Given the description of an element on the screen output the (x, y) to click on. 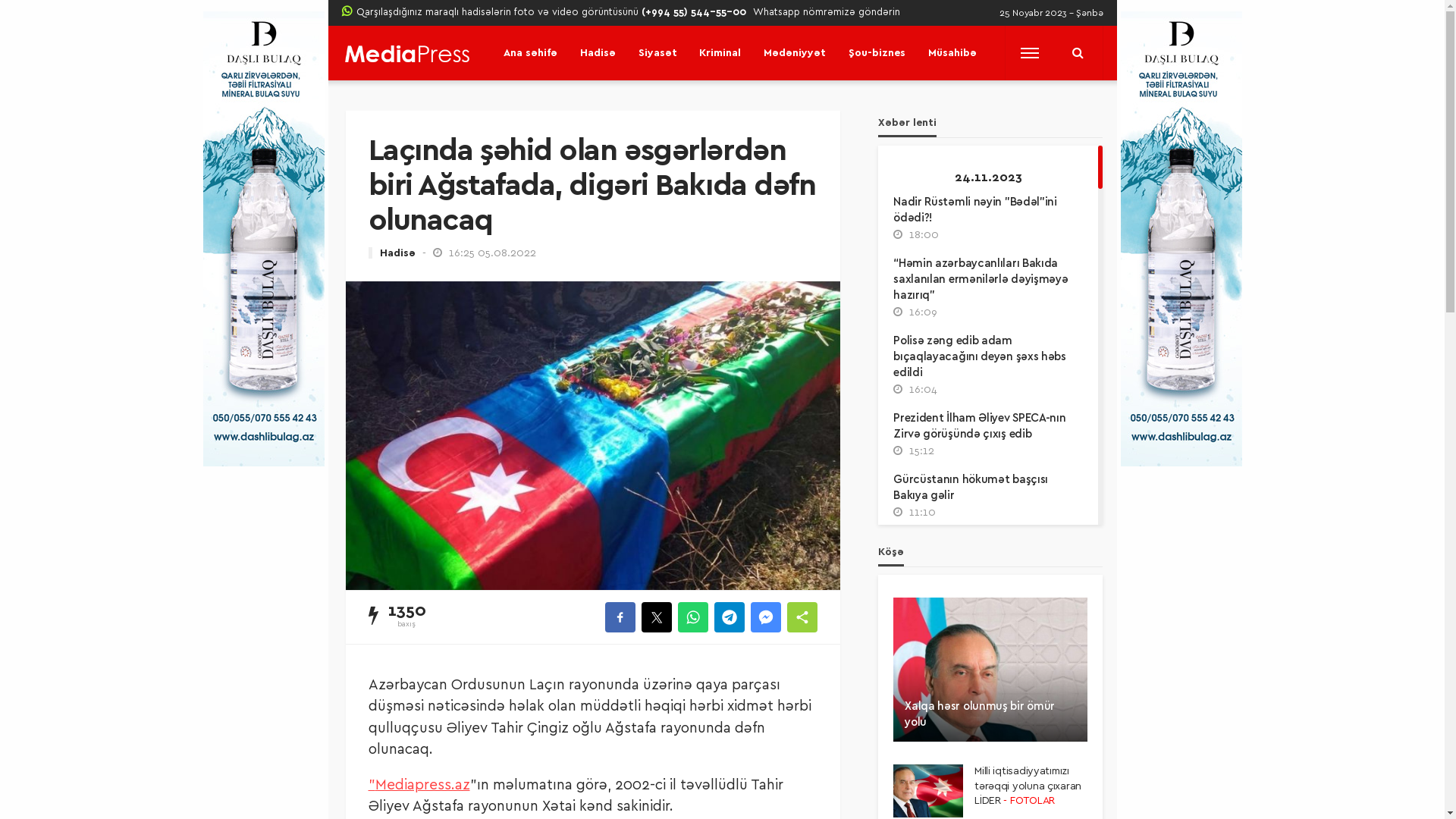
" Element type: text (371, 785)
off canvas button Element type: hover (1029, 52)
Mediapress.az Element type: text (421, 785)
Kriminal Element type: text (719, 52)
